Given the description of an element on the screen output the (x, y) to click on. 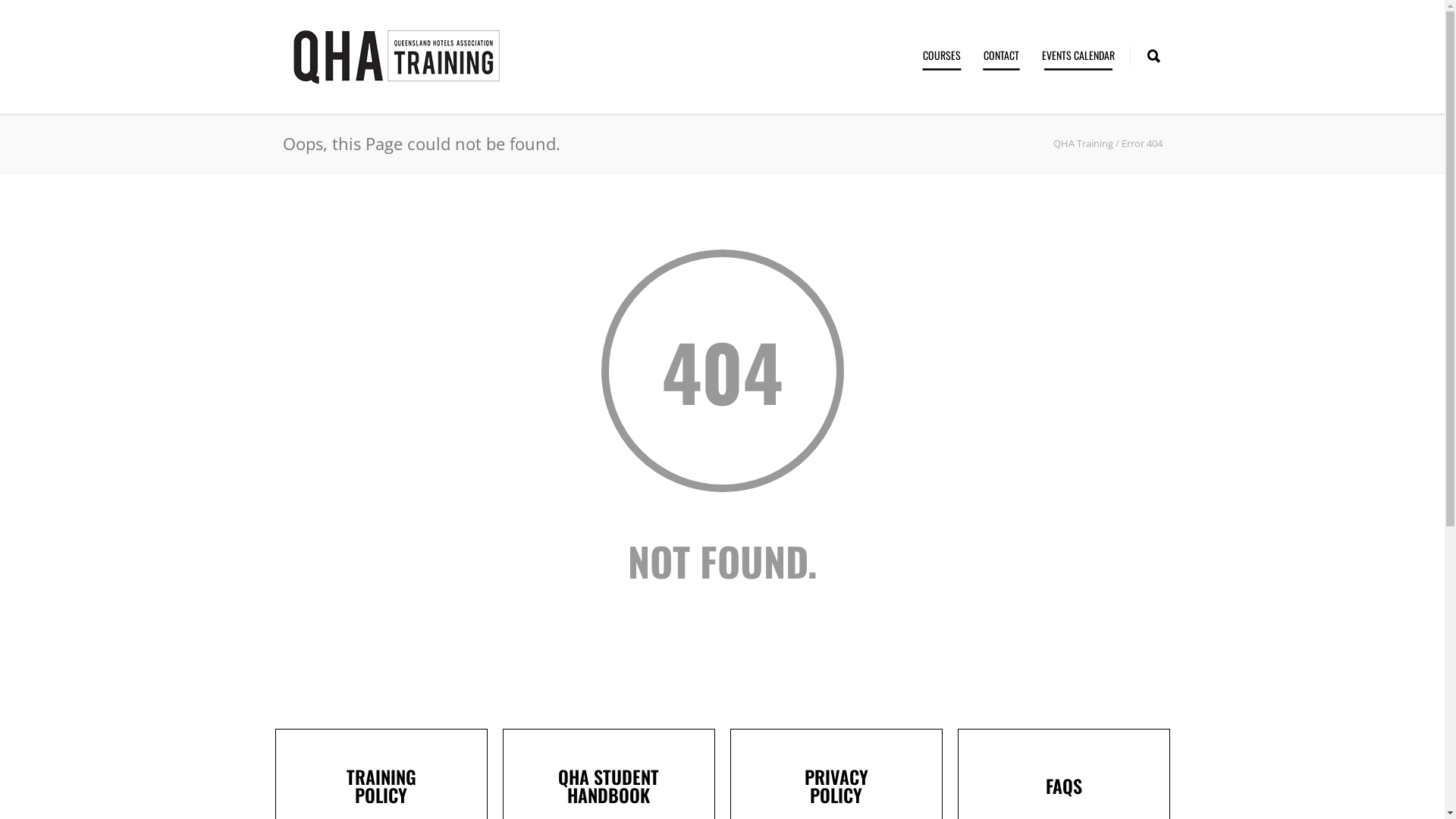
COURSES Element type: text (941, 54)
EVENTS CALENDAR Element type: text (1077, 54)
CONTACT Element type: text (1001, 54)
QHA Training Element type: text (1082, 143)
